Given the description of an element on the screen output the (x, y) to click on. 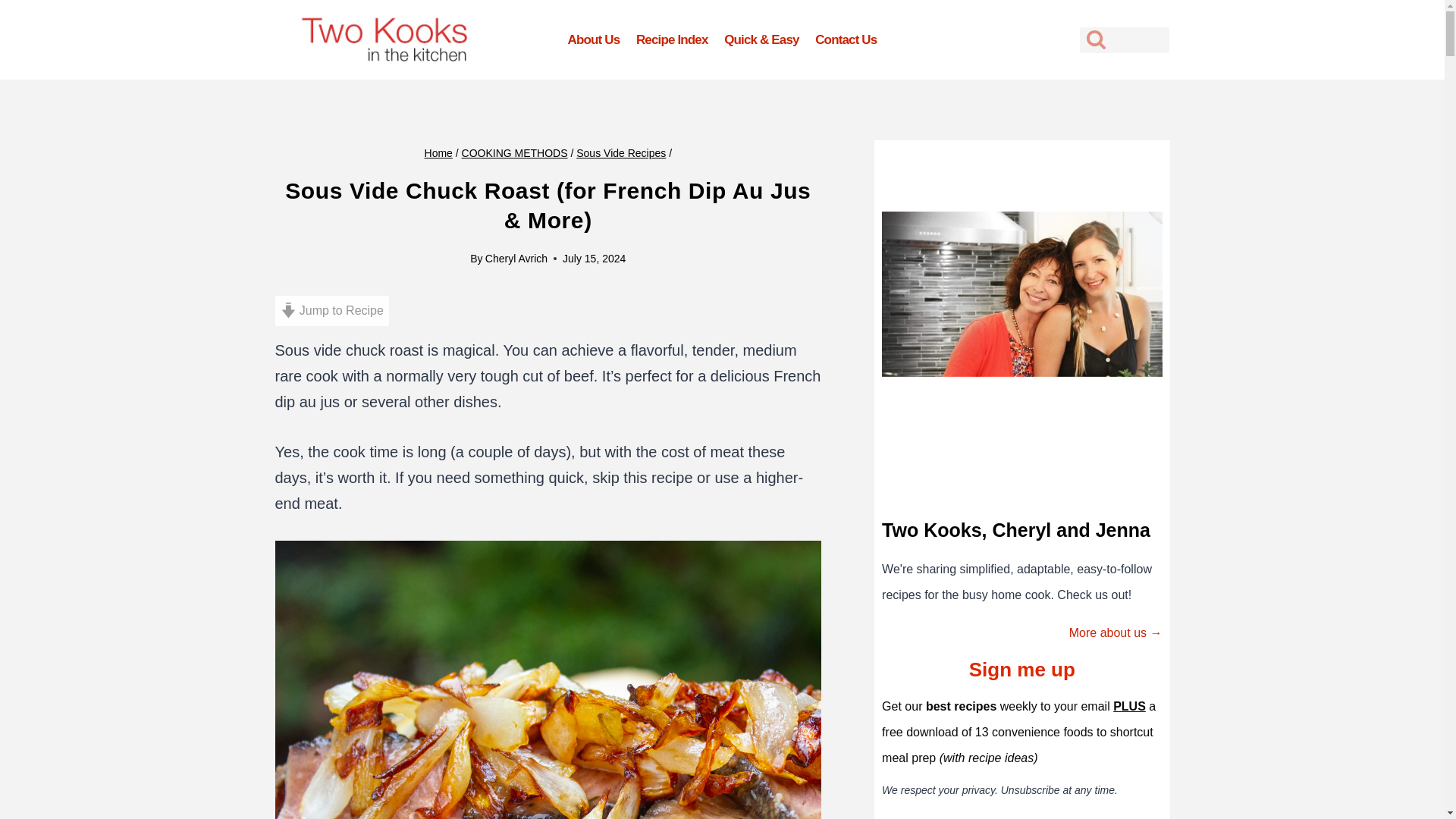
Contact Us (845, 39)
About Us (593, 39)
Cheryl Avrich (515, 258)
Recipe Index (671, 39)
Sous Vide Recipes (620, 152)
COOKING METHODS (514, 152)
Jump to Recipe (331, 310)
Home (438, 152)
